Given the description of an element on the screen output the (x, y) to click on. 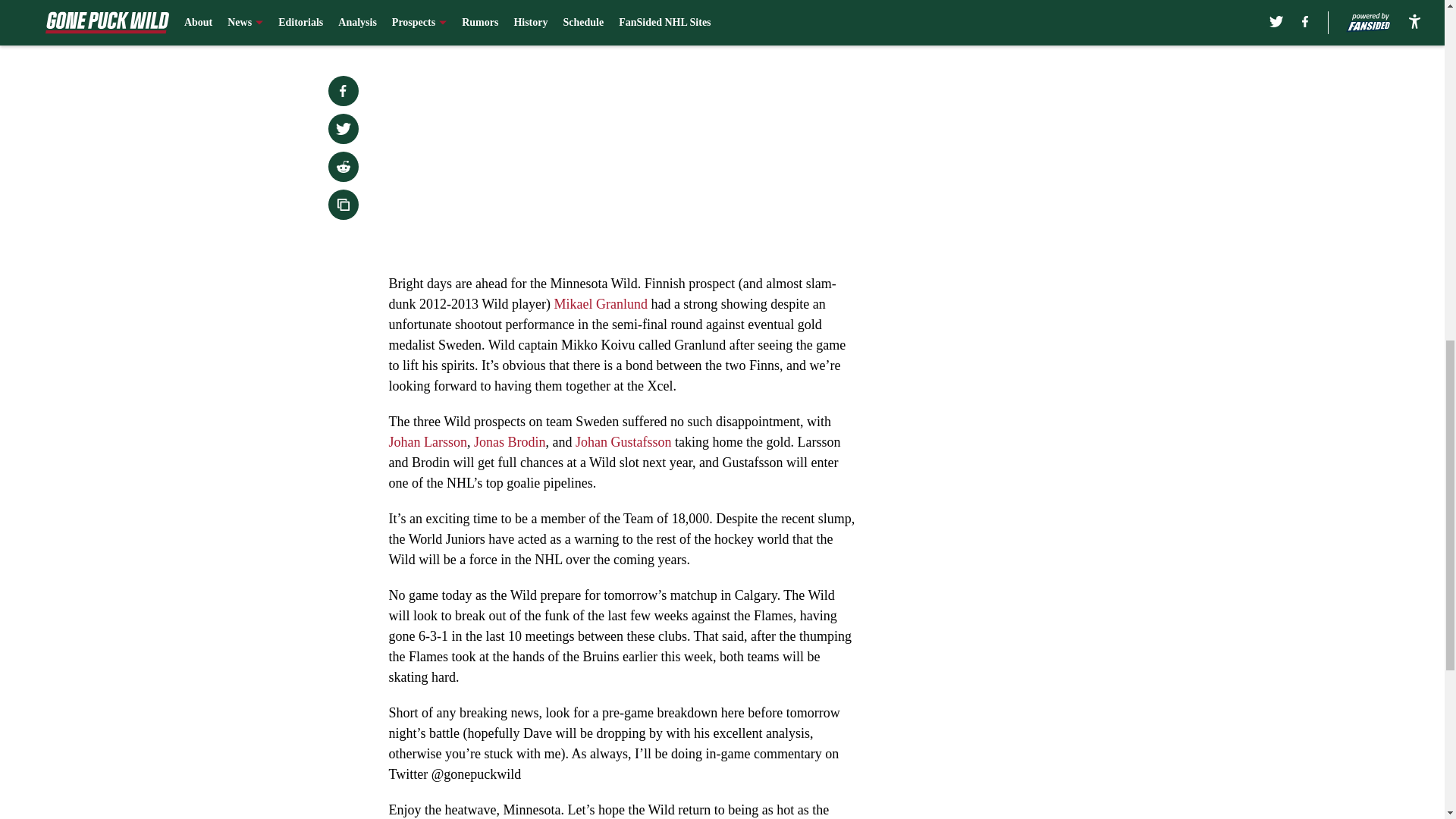
Jonas Brodin (510, 441)
Johan Gustafsson (623, 441)
Mikael Granlund (599, 304)
Johan Larsson (426, 441)
